Given the description of an element on the screen output the (x, y) to click on. 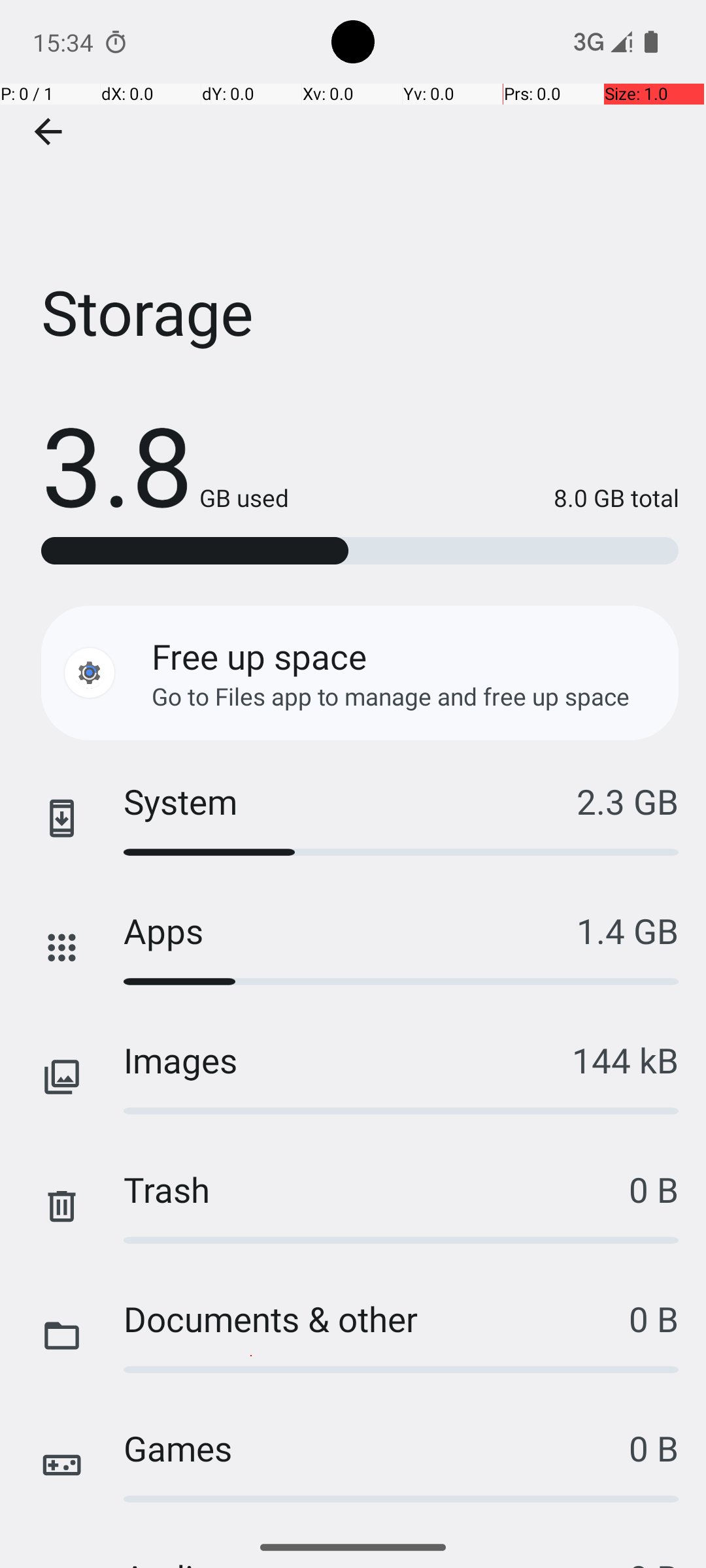
144 kB Element type: android.widget.TextView (624, 1059)
